Given the description of an element on the screen output the (x, y) to click on. 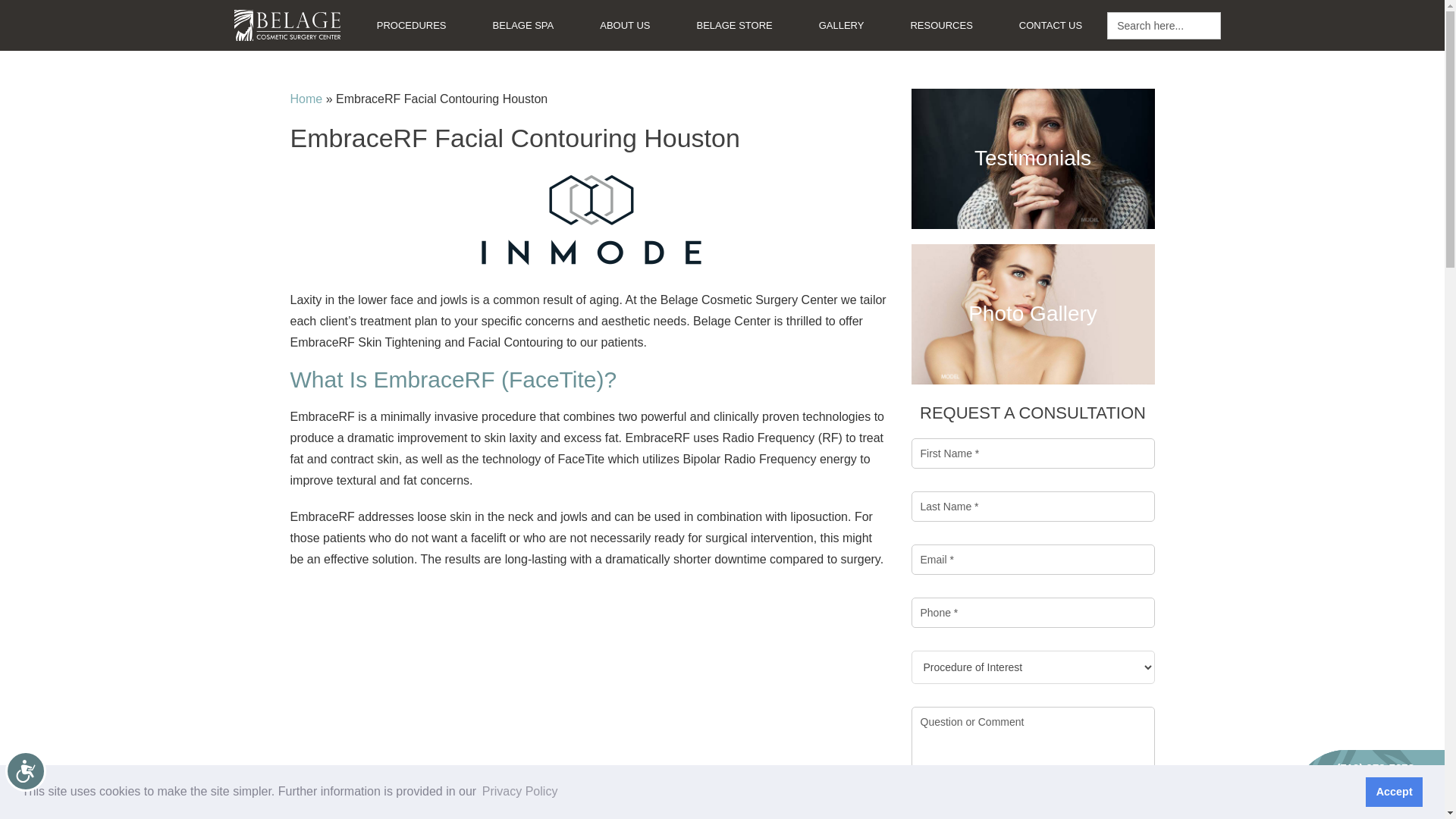
PROCEDURES (411, 25)
Accessibility (39, 785)
Accept (1393, 791)
Privacy Policy (520, 791)
